Given the description of an element on the screen output the (x, y) to click on. 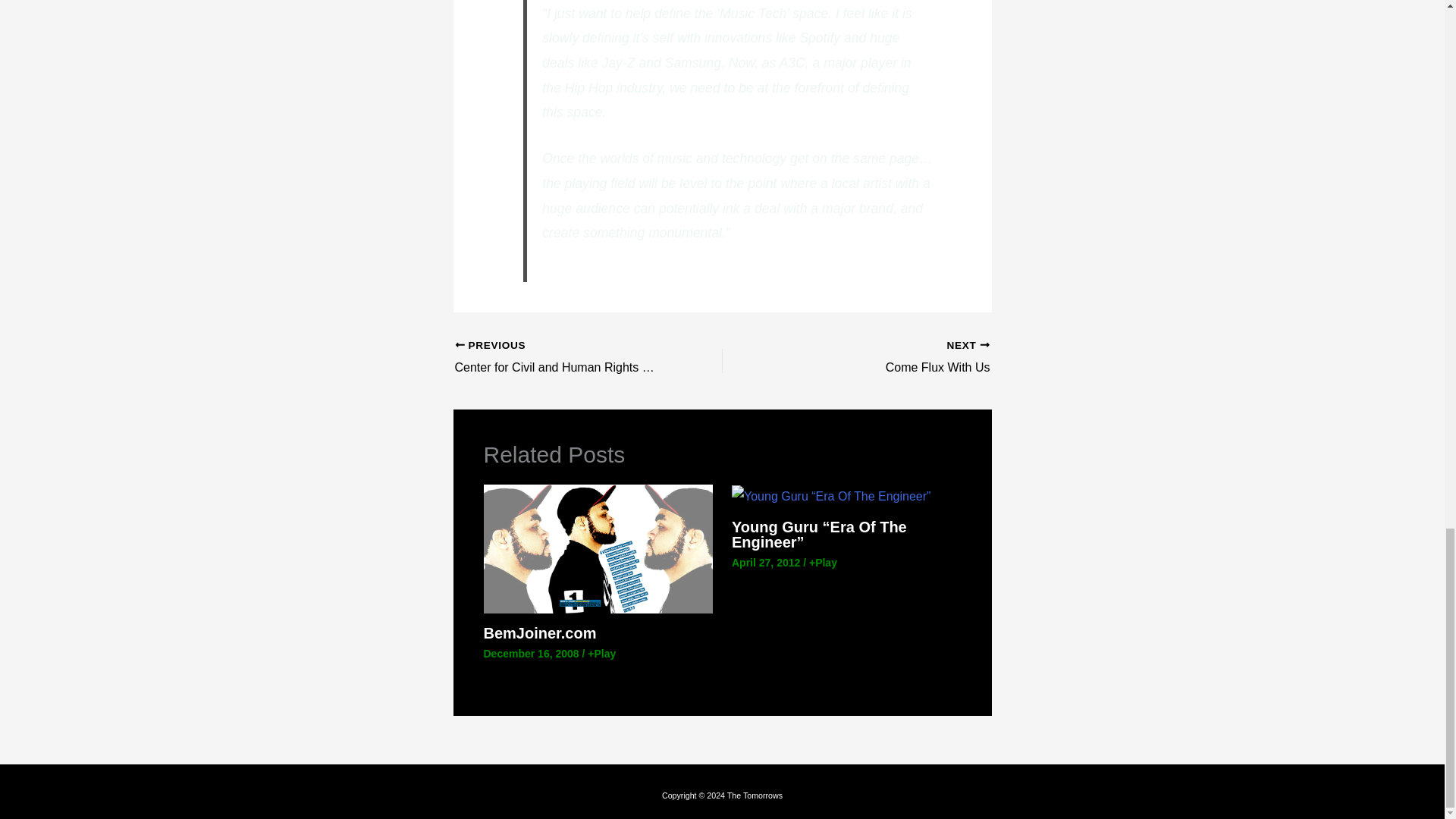
Center for Civil and Human Rights "This is OUR Atlanta" (561, 357)
BemJoiner.com (539, 632)
Come Flux With Us (882, 357)
